Given the description of an element on the screen output the (x, y) to click on. 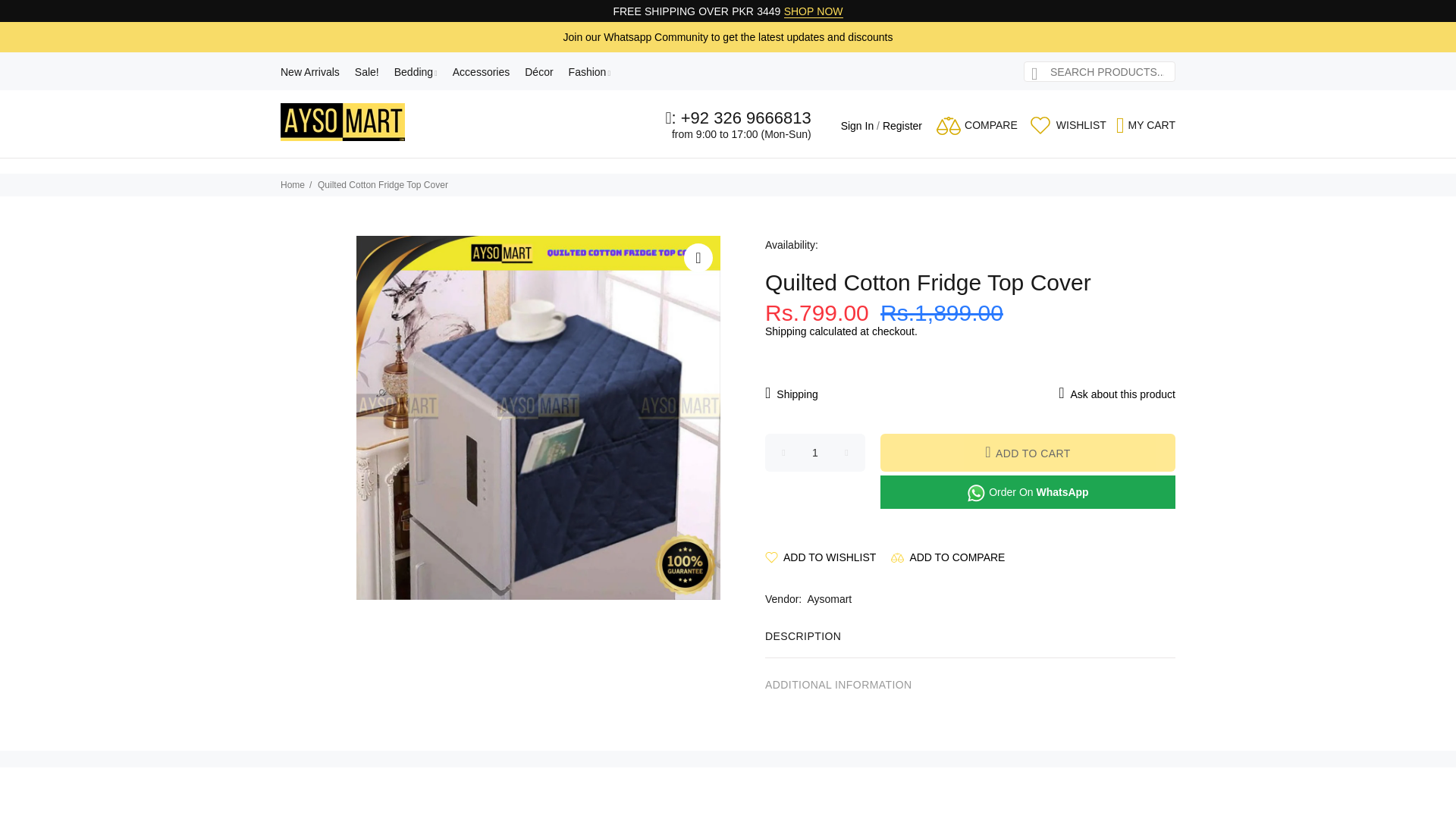
New Arrivals (314, 71)
Bedding (416, 71)
1 (814, 452)
SHOP NOW (813, 11)
Sale! (367, 71)
